Given the description of an element on the screen output the (x, y) to click on. 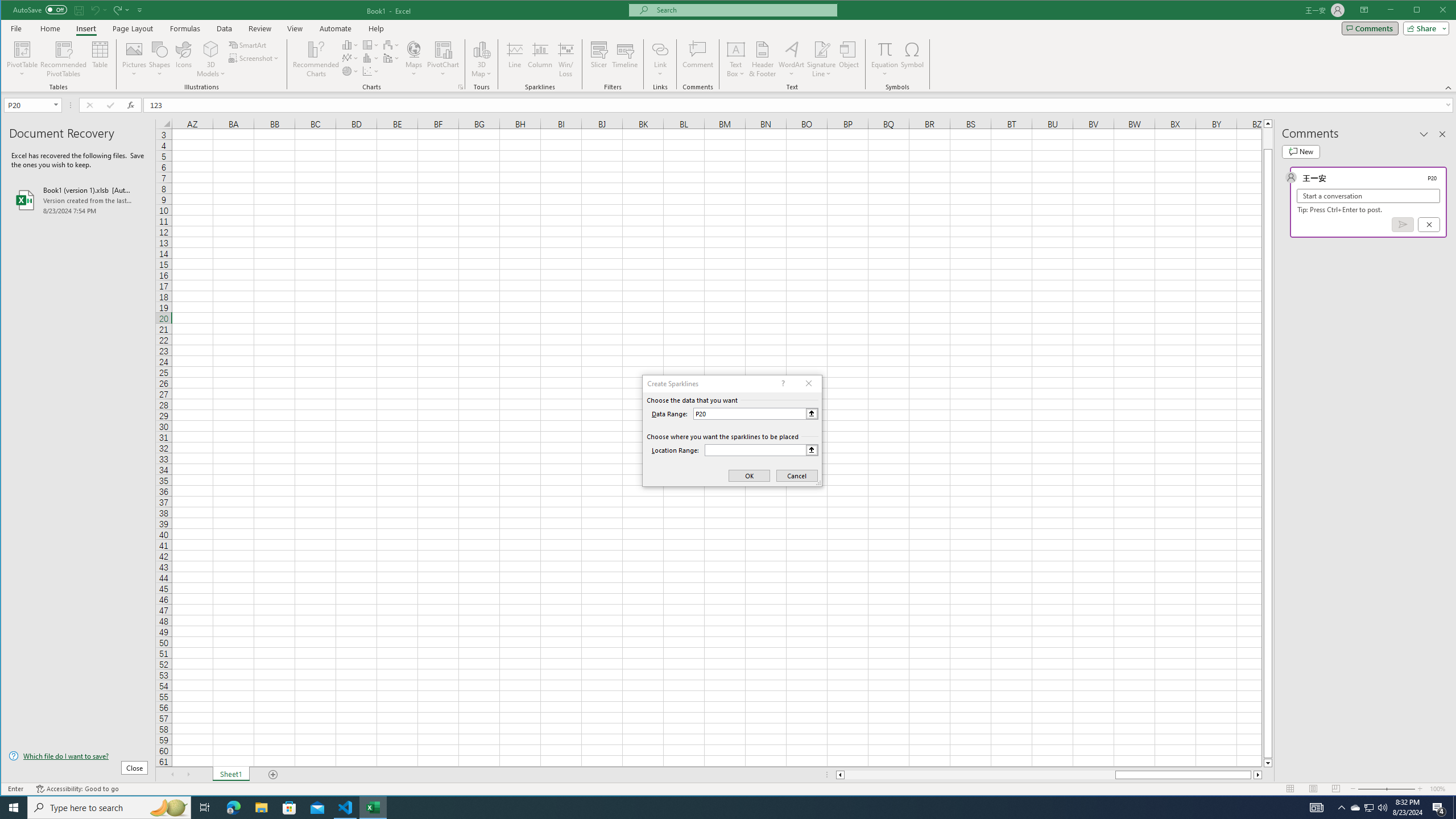
Recommended Charts (460, 86)
Insert Line or Area Chart (350, 57)
Insert Pie or Doughnut Chart (350, 70)
Insert Hierarchy Chart (371, 44)
Slicer... (598, 59)
Recommended PivotTables (63, 59)
